Given the description of an element on the screen output the (x, y) to click on. 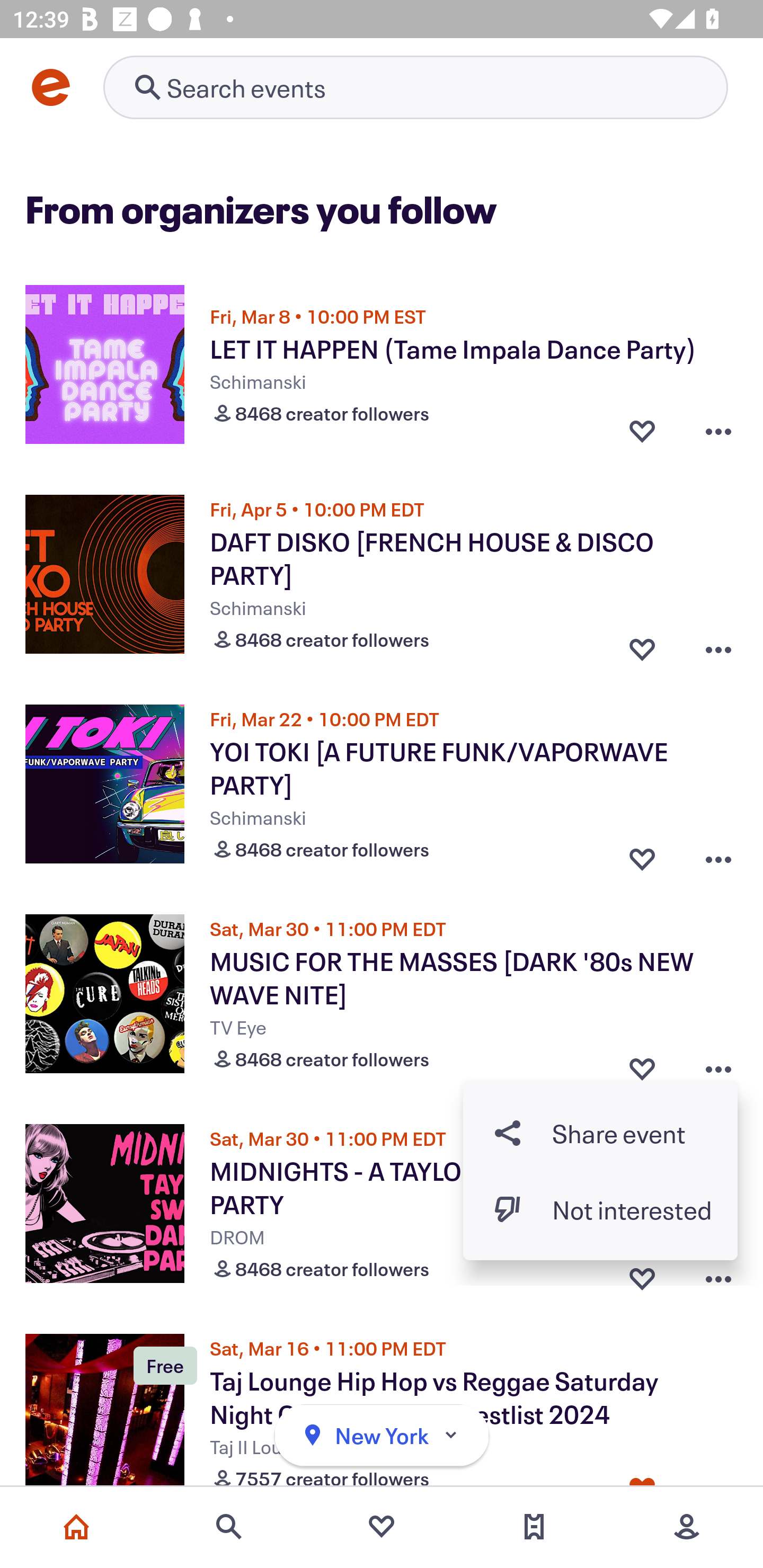
Share button Share event (600, 1132)
Dislike event button Not interested (600, 1209)
